Given the description of an element on the screen output the (x, y) to click on. 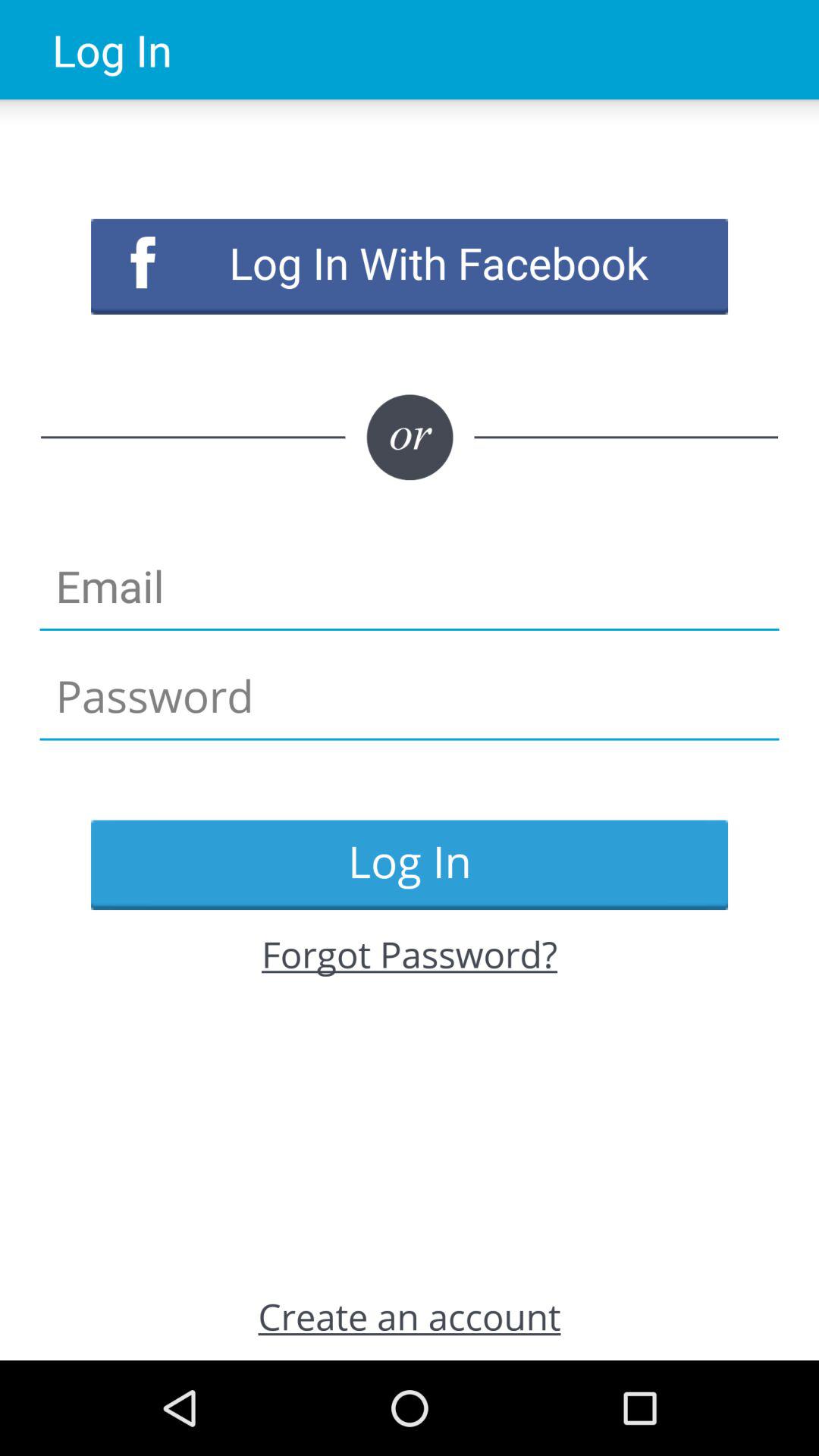
jump until the forgot password? item (409, 953)
